Given the description of an element on the screen output the (x, y) to click on. 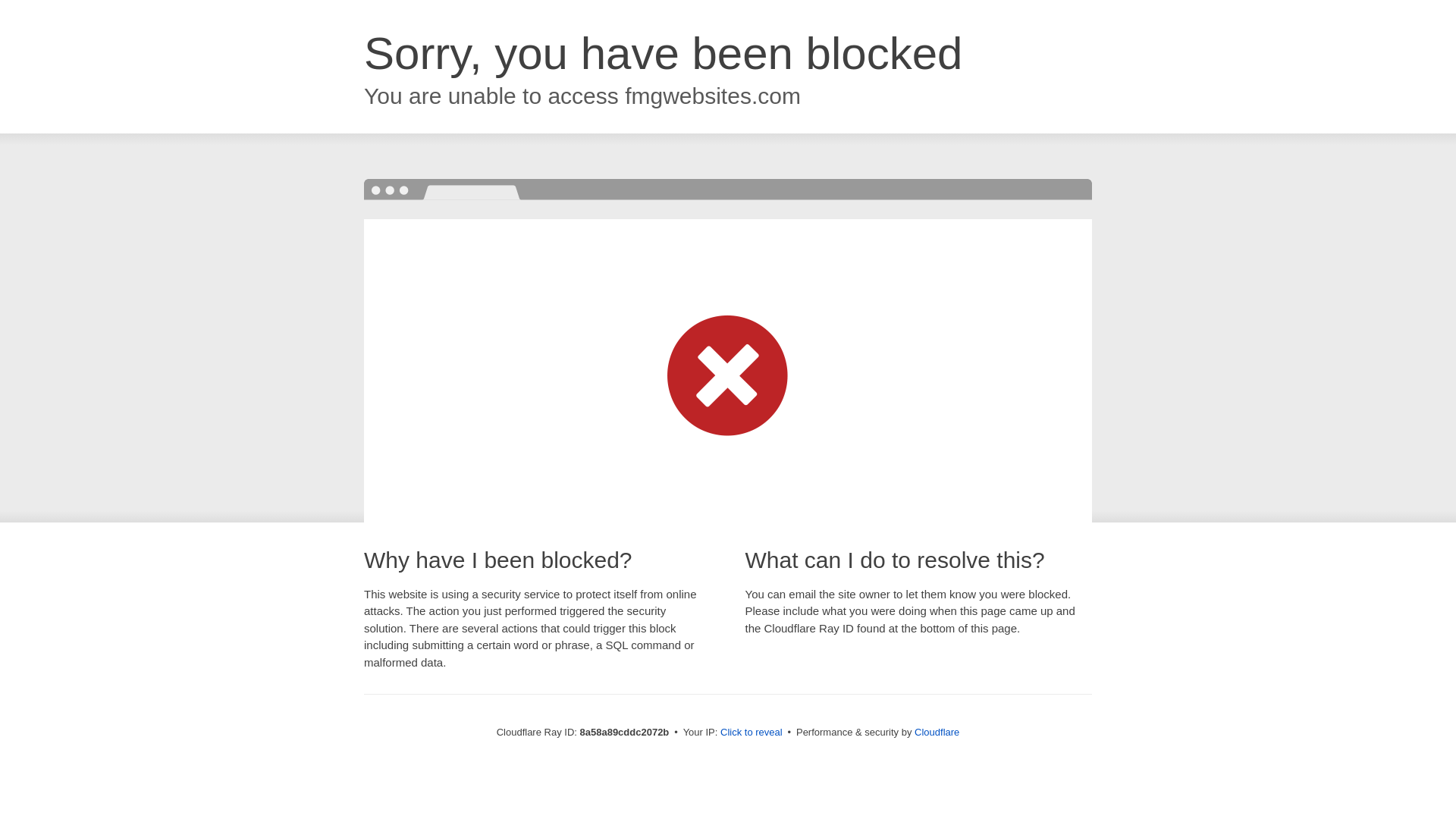
Cloudflare (936, 731)
Click to reveal (751, 732)
